Given the description of an element on the screen output the (x, y) to click on. 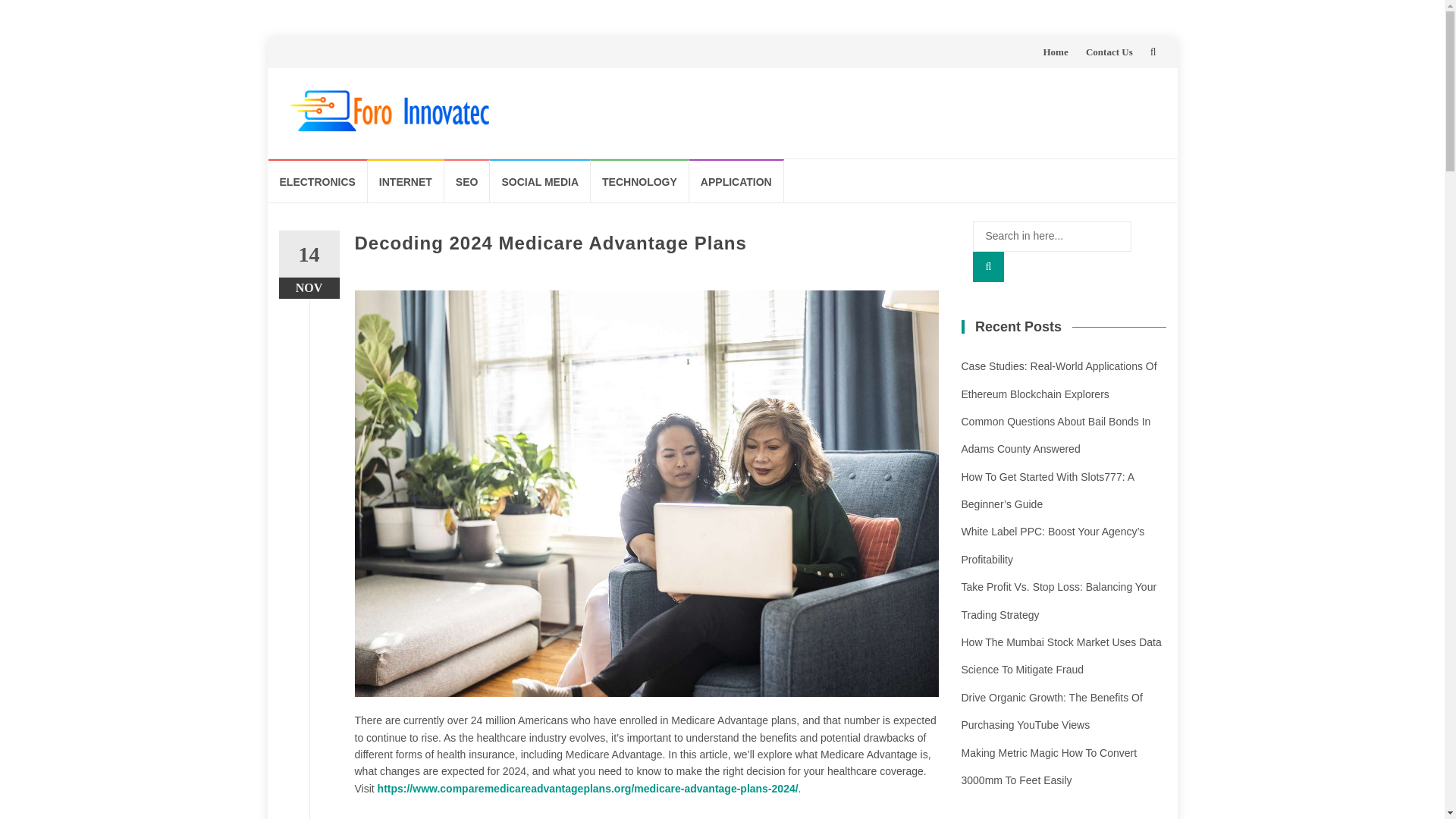
Home (1054, 51)
TECHNOLOGY (639, 180)
SOCIAL MEDIA (540, 180)
INTERNET (406, 180)
ELECTRONICS (317, 180)
Search for: (1051, 236)
APPLICATION (736, 180)
Search (988, 266)
Contact Us (1109, 51)
SEO (467, 180)
